Given the description of an element on the screen output the (x, y) to click on. 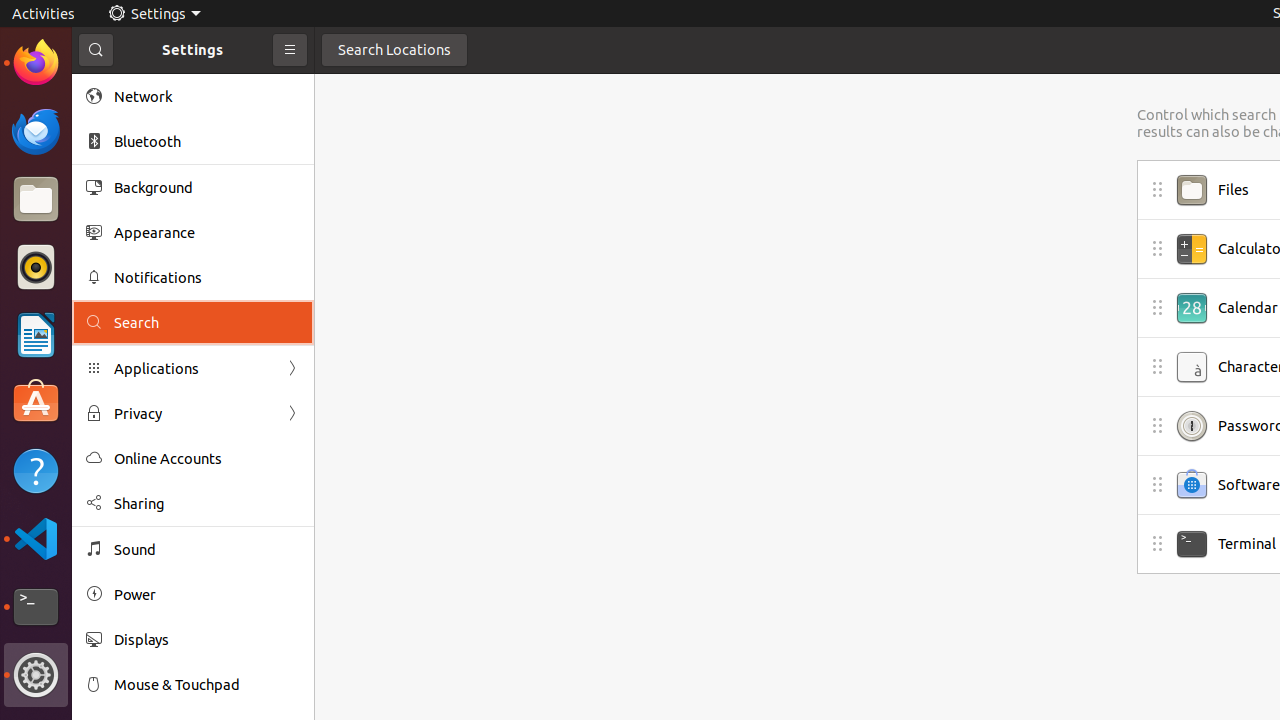
Terminal Element type: push-button (36, 607)
Trash Element type: label (133, 191)
Power Element type: label (207, 594)
Notifications Element type: label (207, 277)
